Given the description of an element on the screen output the (x, y) to click on. 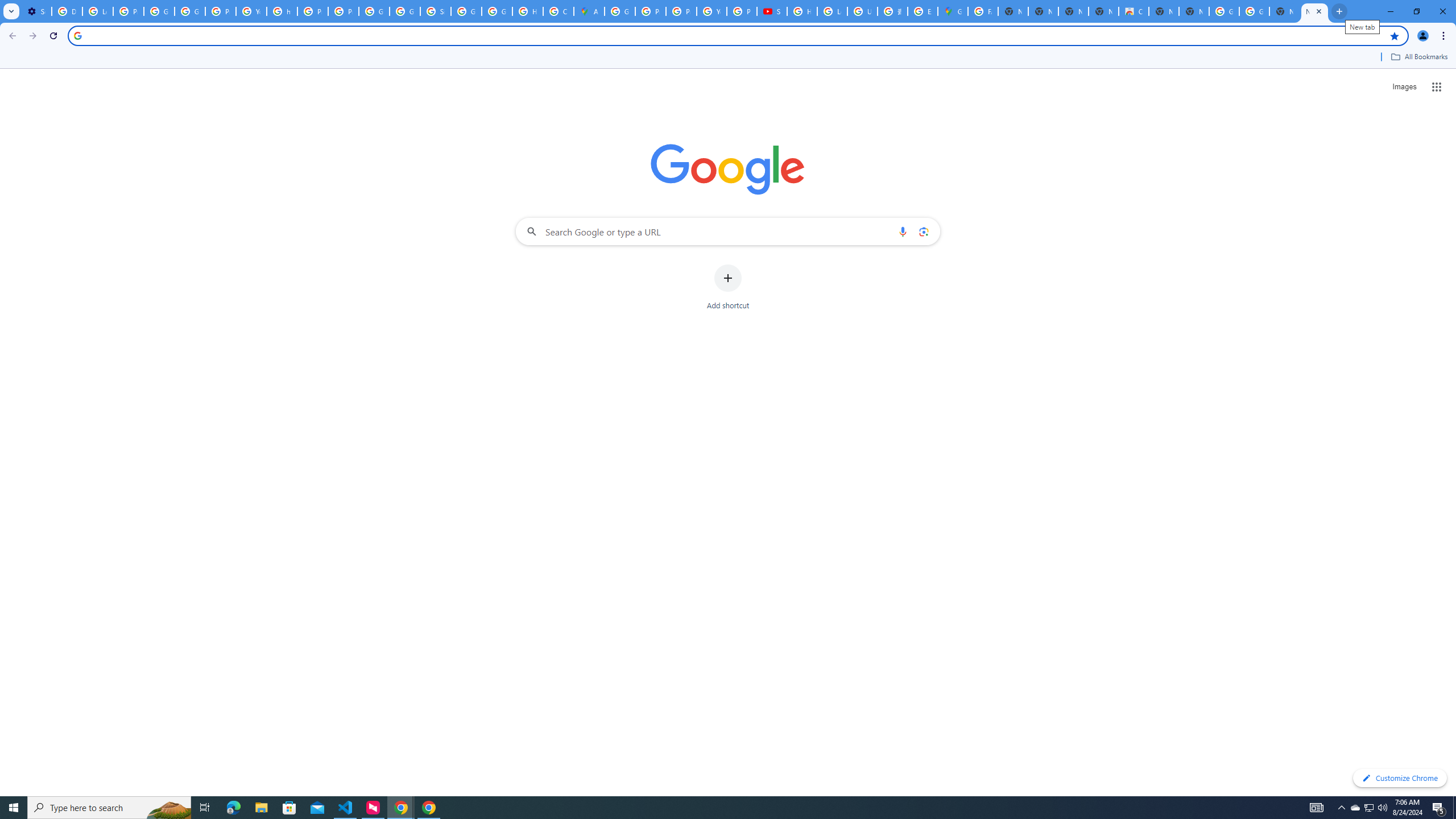
New Tab (1314, 11)
Google Maps (952, 11)
Sign in - Google Accounts (434, 11)
Google Images (1254, 11)
Subscriptions - YouTube (771, 11)
